Given the description of an element on the screen output the (x, y) to click on. 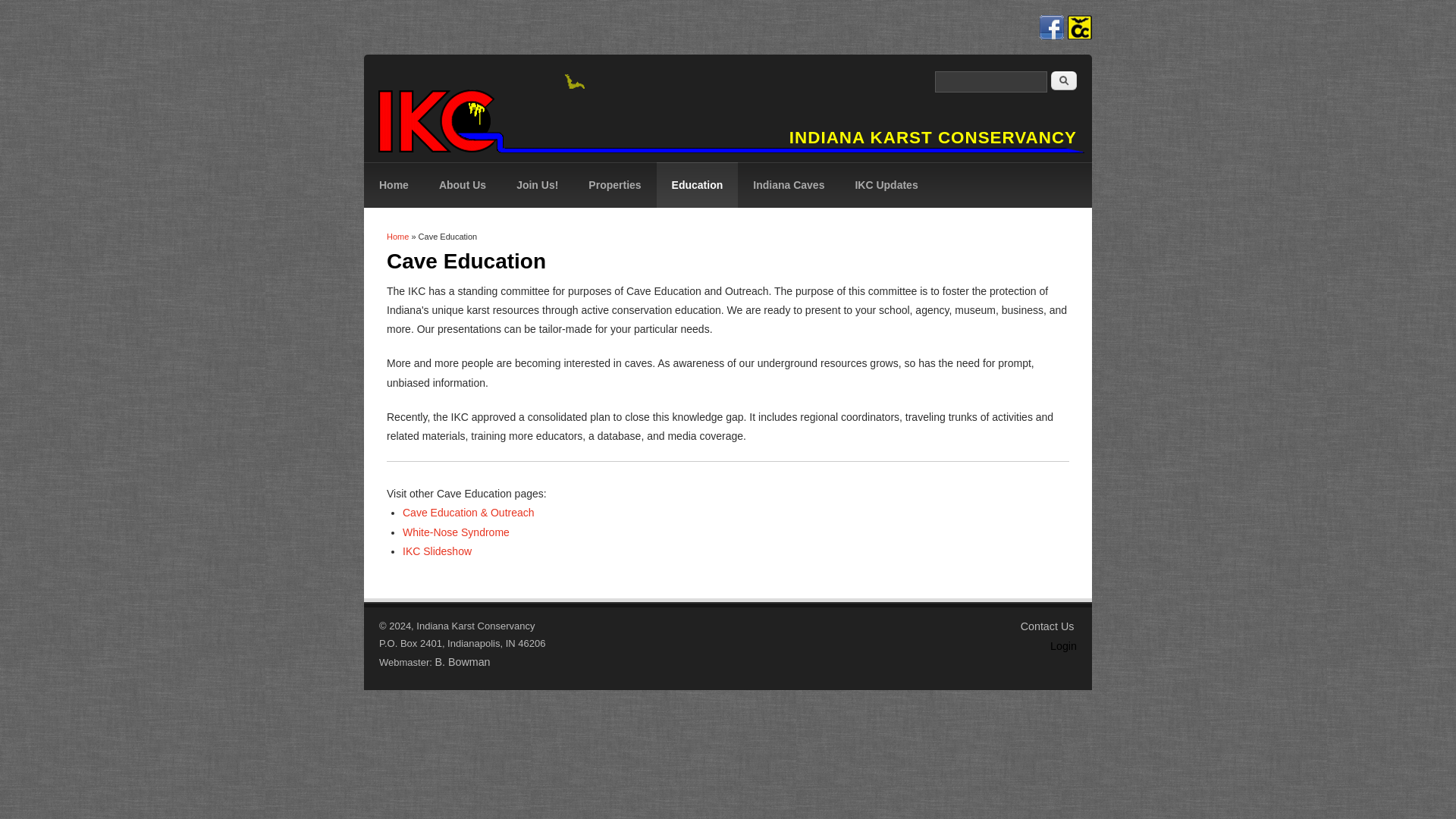
Home (393, 185)
About Us (461, 185)
Cave Chat (1079, 27)
Indiana Caves (789, 185)
Search (1064, 80)
Education (697, 185)
IKC Updates (886, 185)
Home (398, 235)
Search (1064, 80)
Home (932, 137)
